Given the description of an element on the screen output the (x, y) to click on. 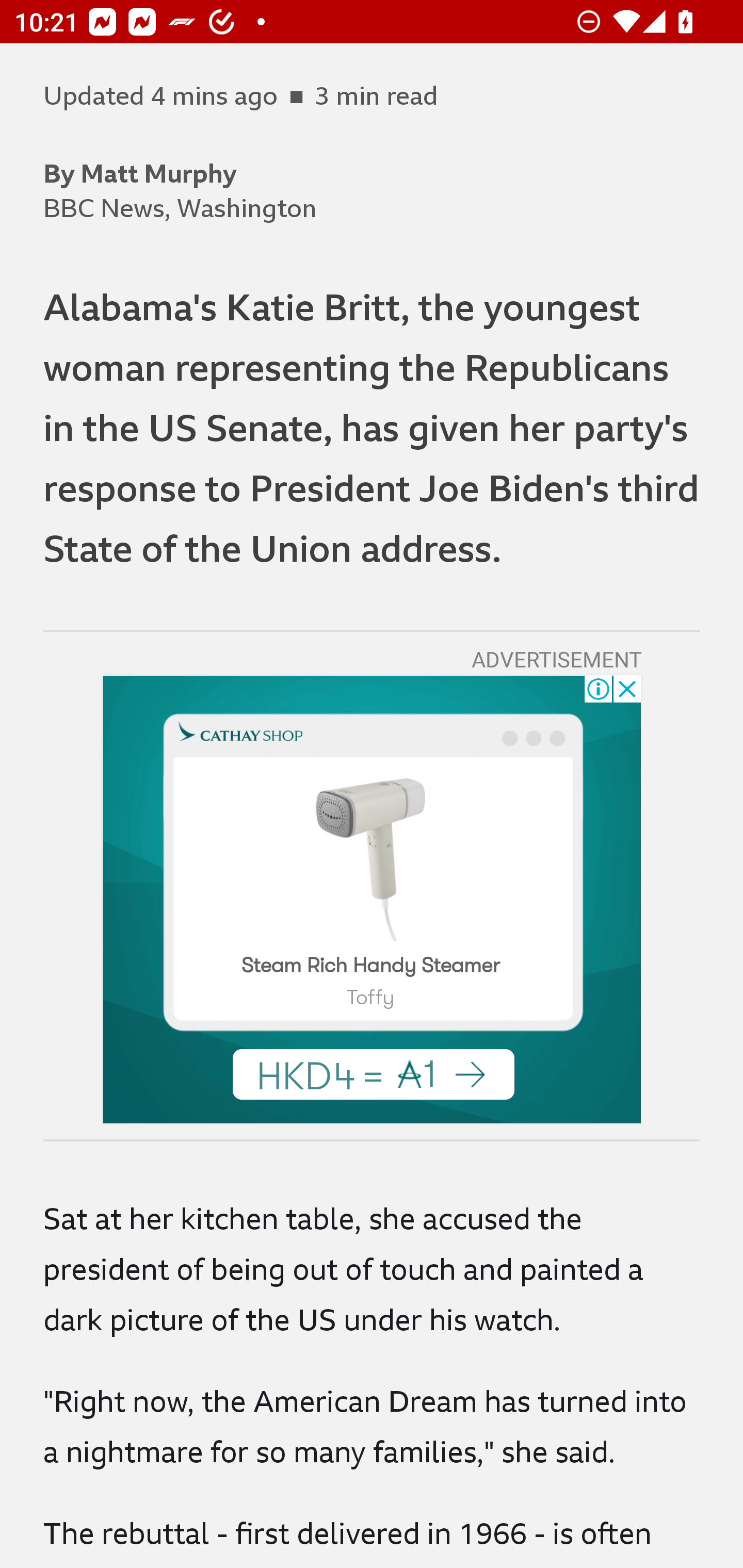
17 (370, 858)
